Given the description of an element on the screen output the (x, y) to click on. 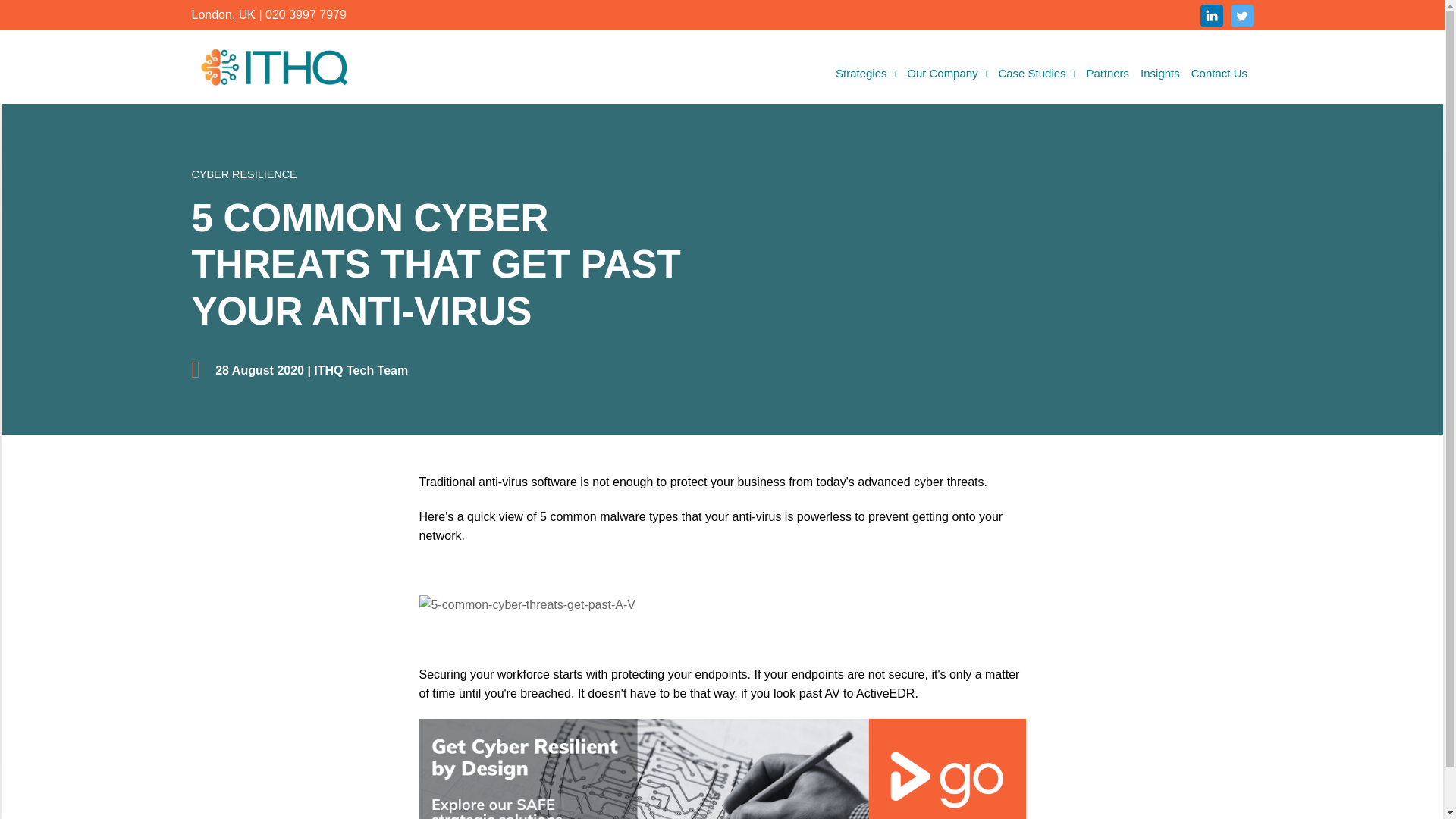
Contact Us (1218, 73)
Our Company (946, 73)
Strategies (865, 73)
Partners (1107, 73)
Insights (1160, 73)
Case Studies (1036, 73)
020 3997 7979 (305, 14)
